Given the description of an element on the screen output the (x, y) to click on. 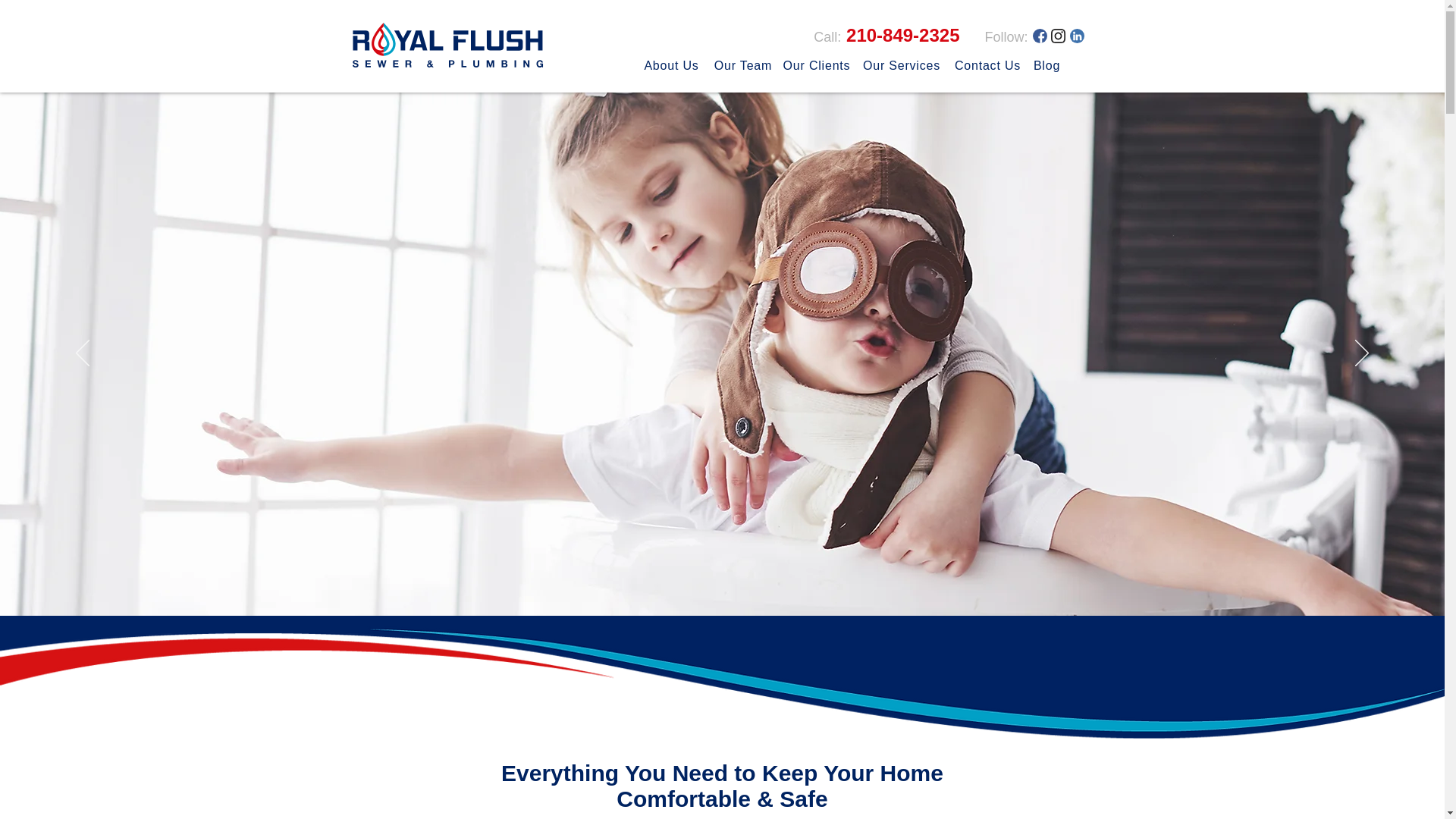
210-849-2325 (900, 35)
Blog (1046, 65)
Our Team (742, 65)
About Us (656, 81)
Contact Us (987, 65)
Call: (827, 37)
Our Services (902, 65)
Follow: (1005, 37)
About Us (671, 65)
About Us (595, 79)
